Given the description of an element on the screen output the (x, y) to click on. 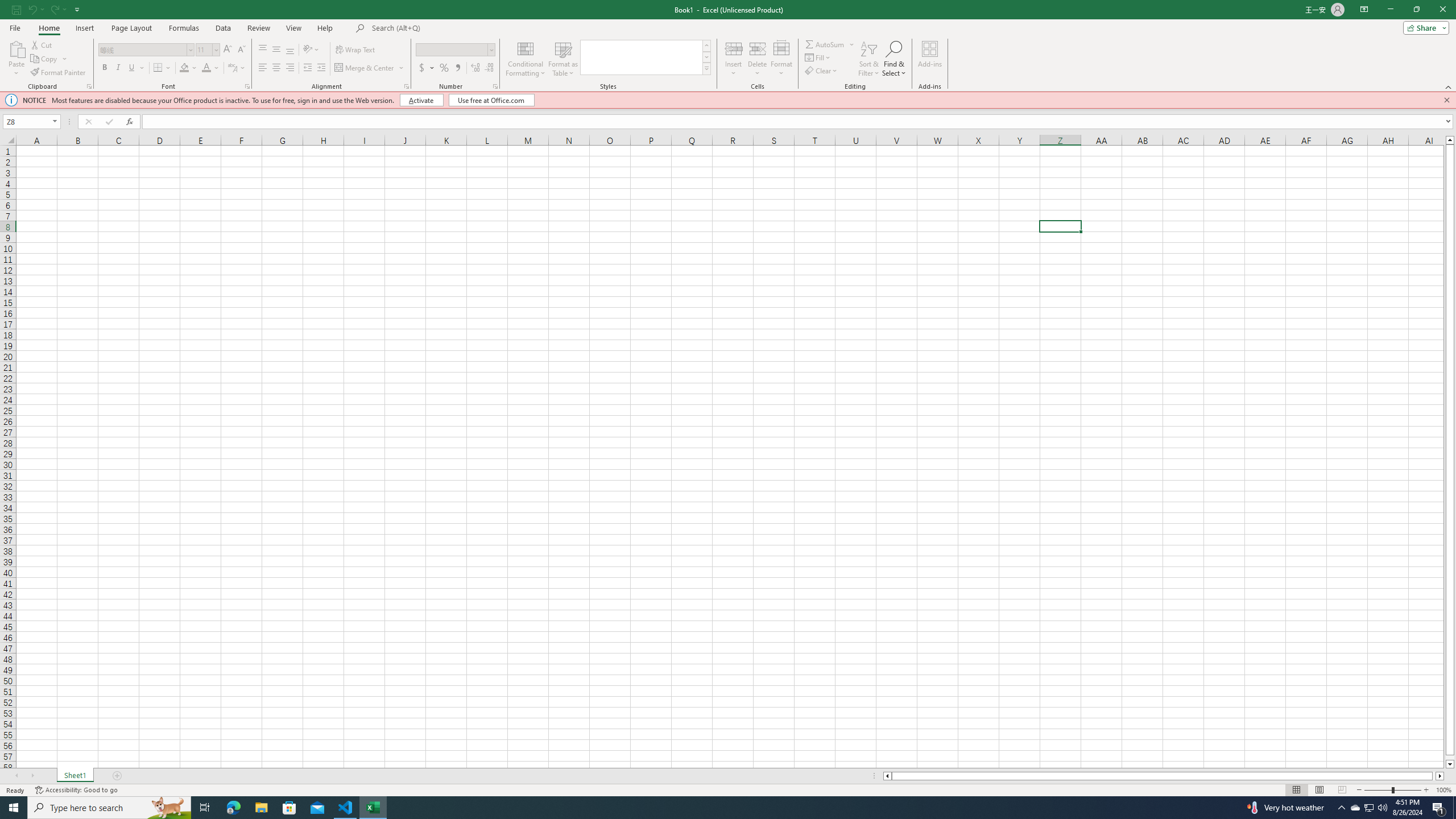
Office Clipboard... (88, 85)
Orientation (311, 49)
Find & Select (893, 58)
Accounting Number Format (422, 67)
Activate (422, 100)
Fill Color (188, 67)
